Given the description of an element on the screen output the (x, y) to click on. 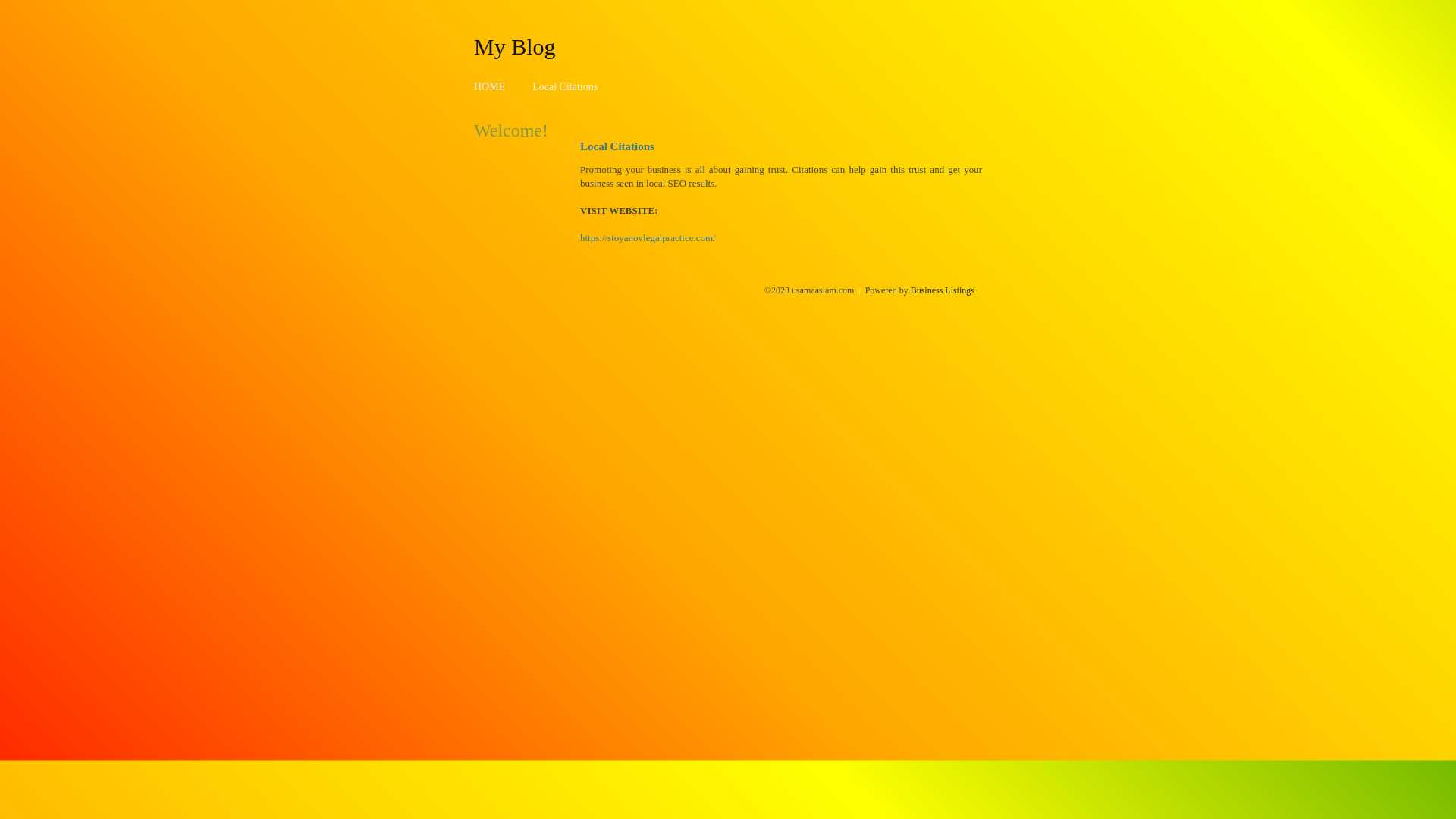
Local Citations Element type: text (564, 86)
HOME Element type: text (489, 86)
https://stoyanovlegalpractice.com/ Element type: text (647, 237)
Business Listings Element type: text (942, 290)
My Blog Element type: text (514, 46)
